Given the description of an element on the screen output the (x, y) to click on. 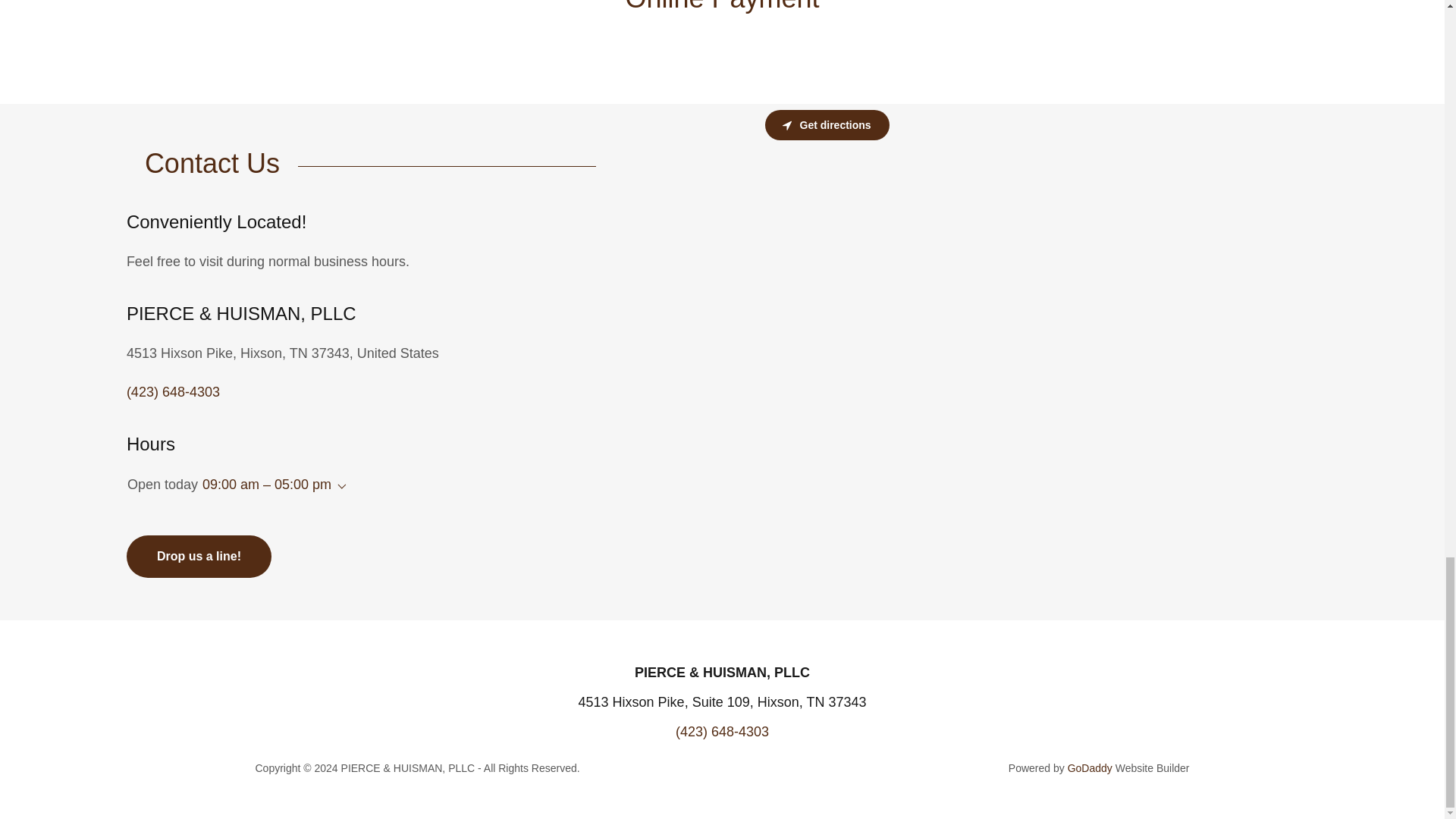
Get directions (826, 124)
GoDaddy (1089, 767)
Drop us a line! (198, 556)
